Given the description of an element on the screen output the (x, y) to click on. 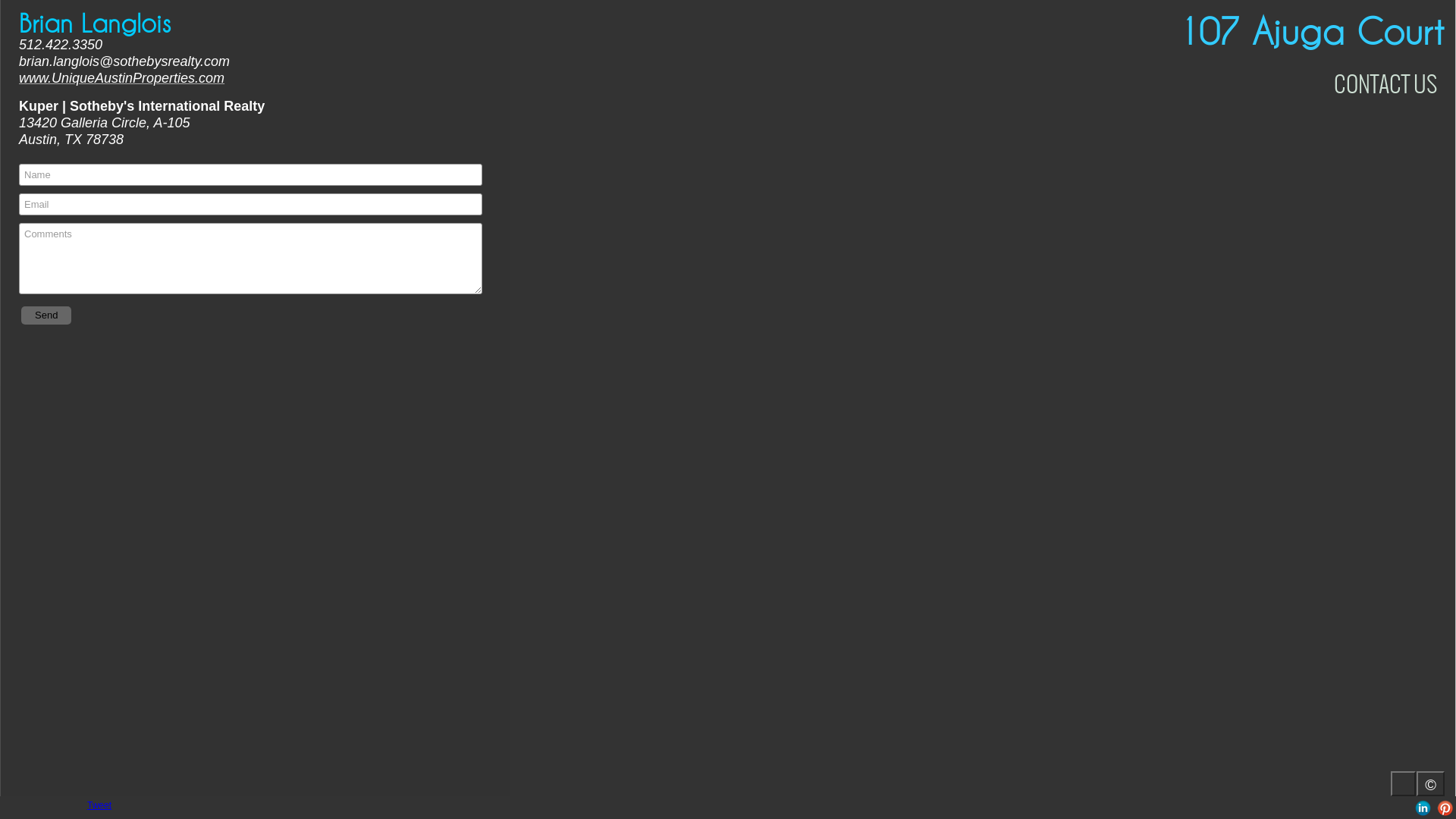
Send Element type: text (46, 315)
Pinterest Element type: text (1444, 807)
UniqueAustinProperties | BrianLanglois Element type: text (1335, 807)
Youtube Element type: text (1400, 807)
Facebook Element type: text (1378, 807)
www.UniqueAustinProperties.com Element type: text (121, 77)
CONTACT US Element type: text (1385, 83)
107 Ajuga Court Element type: text (1311, 31)
Tweet Element type: text (99, 805)
LinkedIn Element type: text (1422, 807)
Instagram Element type: text (1357, 807)
